Given the description of an element on the screen output the (x, y) to click on. 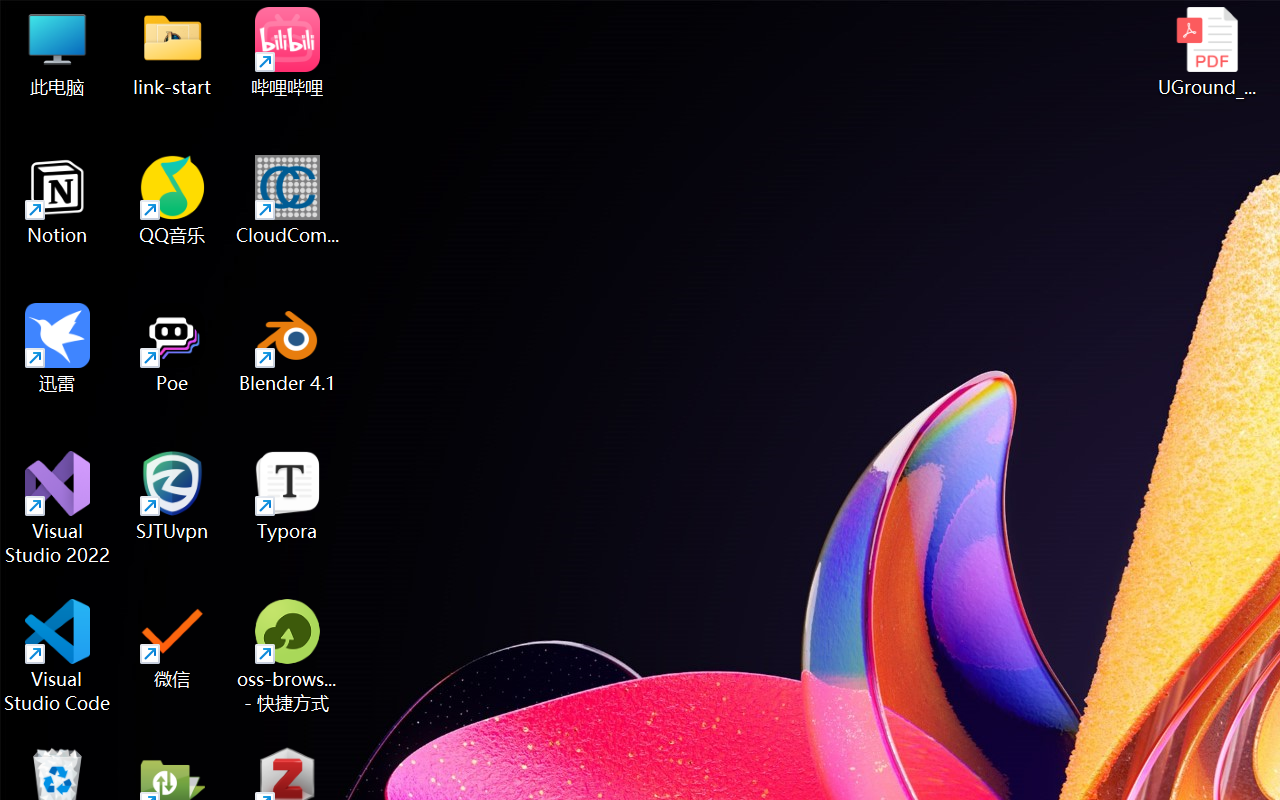
SJTUvpn (172, 496)
Typora (287, 496)
Blender 4.1 (287, 348)
CloudCompare (287, 200)
Visual Studio 2022 (57, 508)
Visual Studio Code (57, 656)
UGround_paper.pdf (1206, 52)
